Given the description of an element on the screen output the (x, y) to click on. 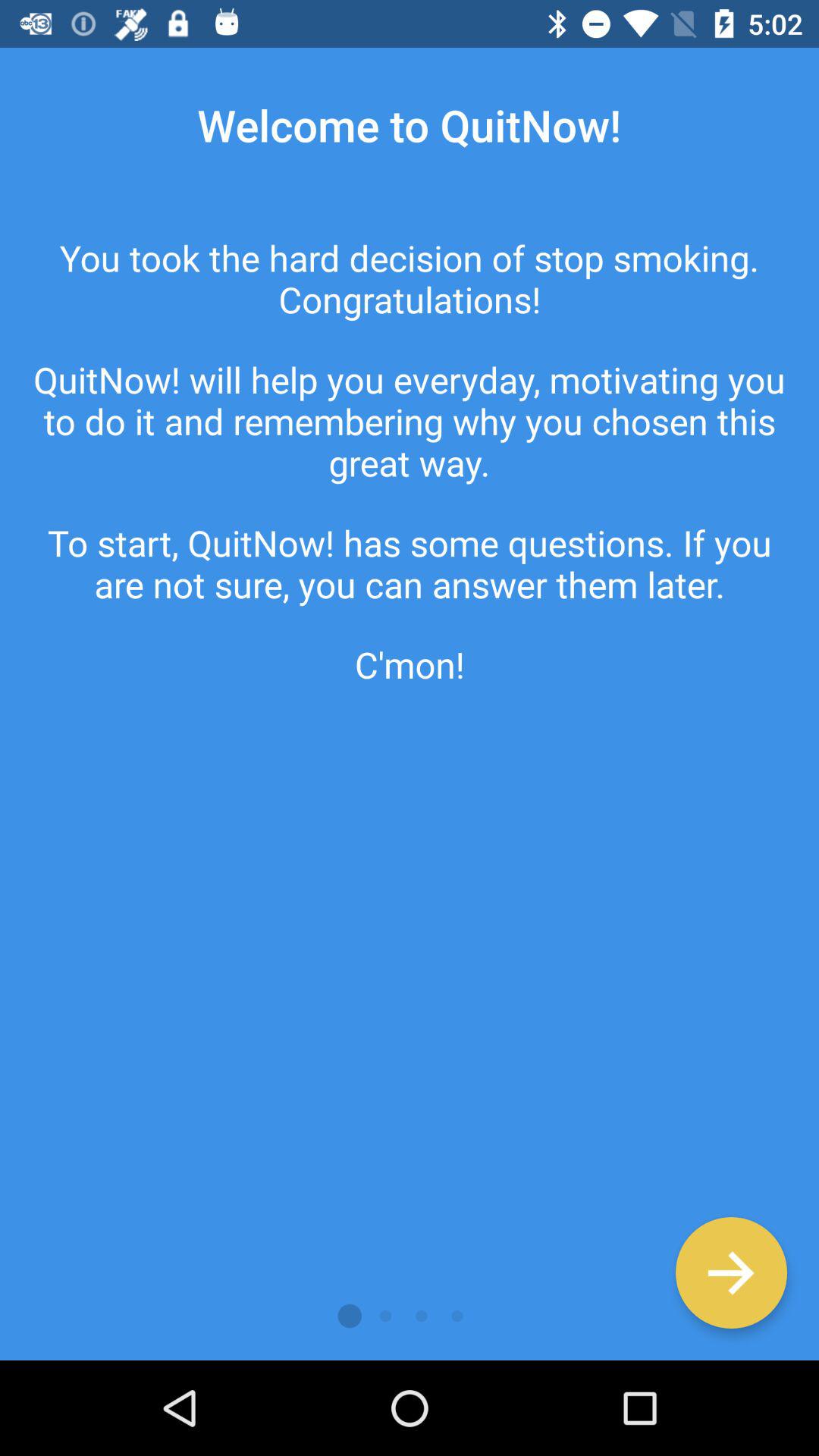
next button (731, 1272)
